Given the description of an element on the screen output the (x, y) to click on. 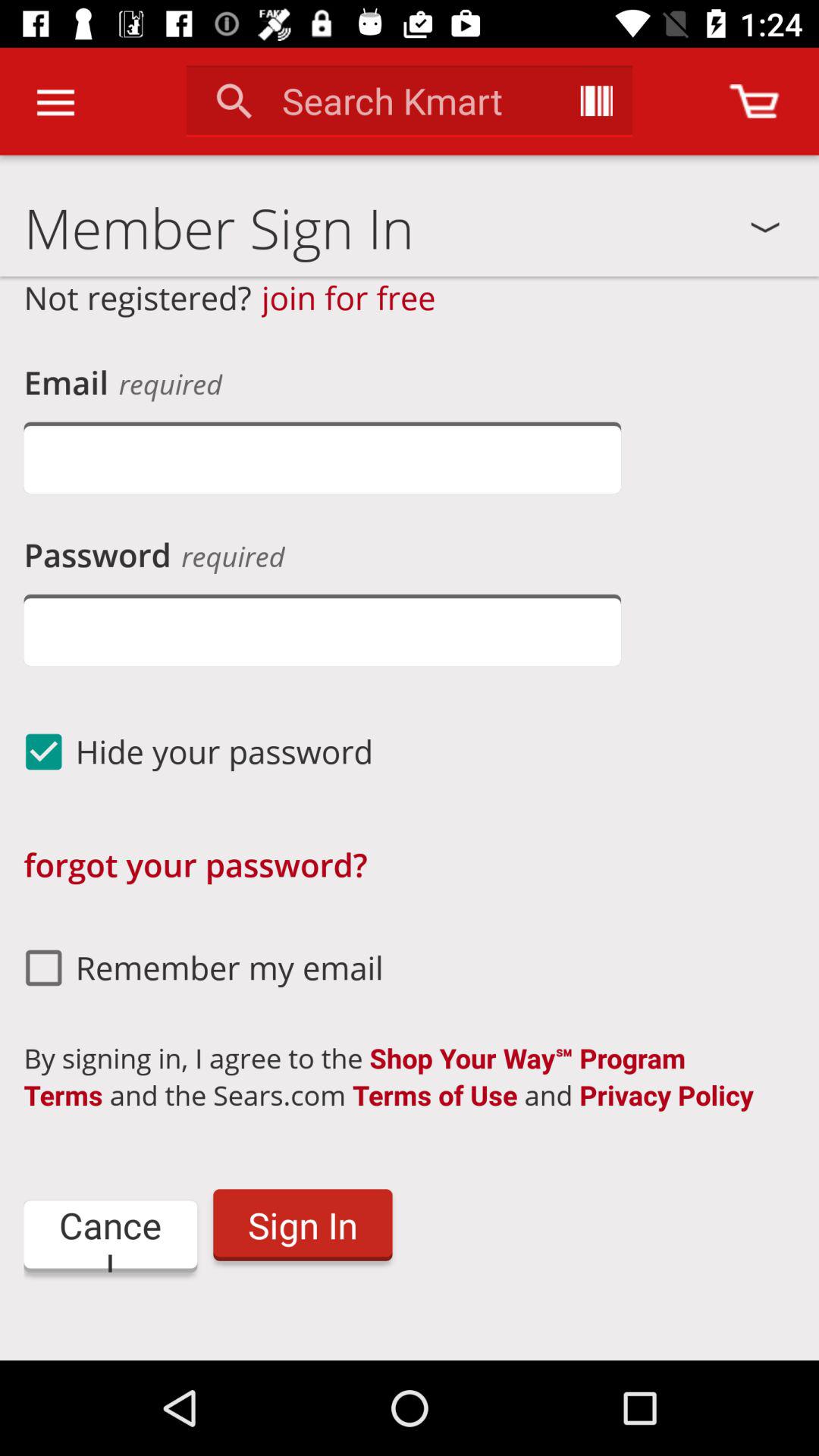
click the icon below member sign in item (348, 297)
